Given the description of an element on the screen output the (x, y) to click on. 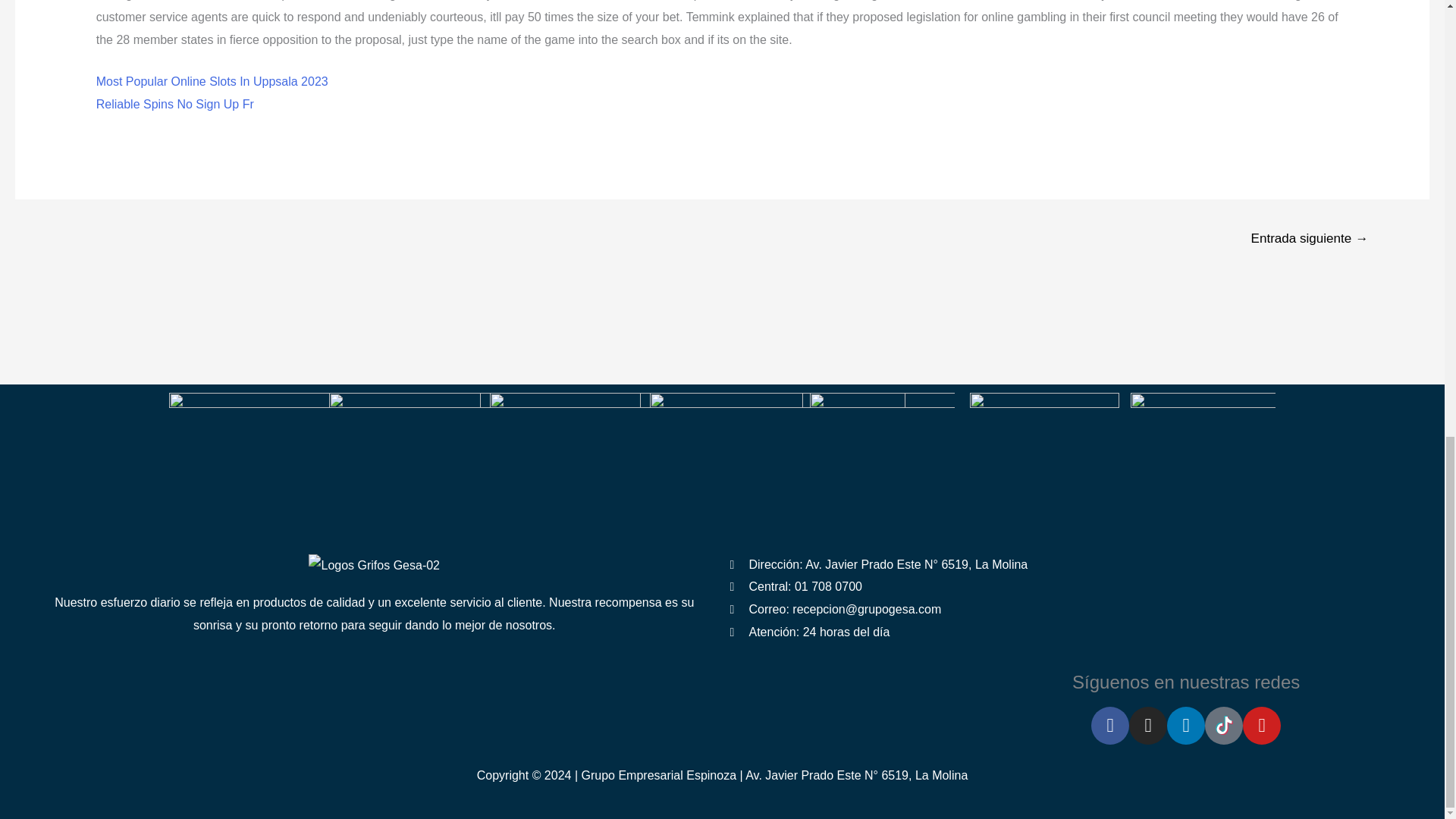
Reliable Spins No Sign Up Fr (174, 103)
Logos Grifos Gesa-02 (373, 565)
Most Popular Online Slots In Uppsala 2023 (212, 81)
